Given the description of an element on the screen output the (x, y) to click on. 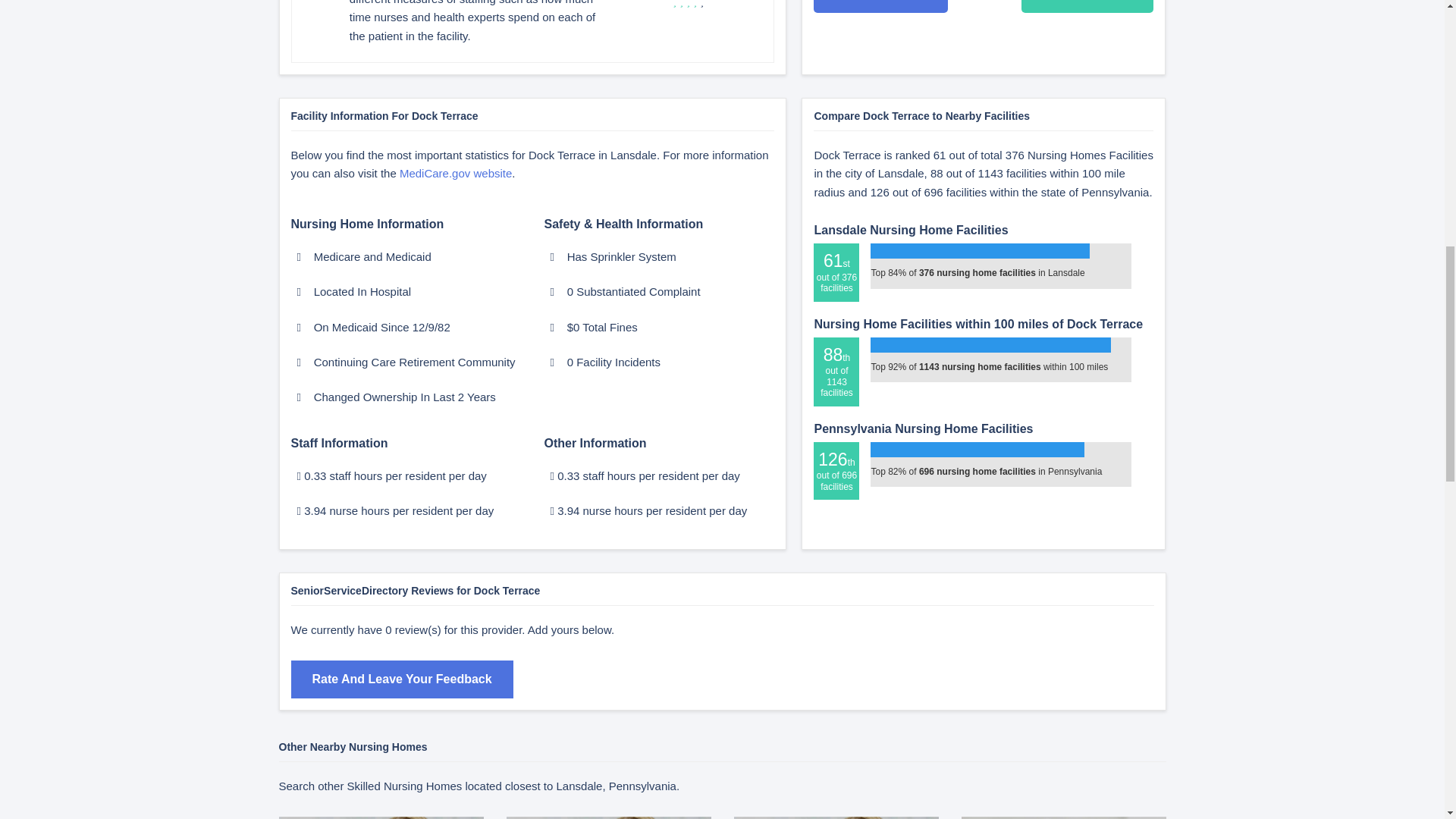
MediCare.gov website (455, 173)
Rate And Leave Your Feedback (402, 679)
REQUEST INFO (880, 6)
CLAIM LISTING (836, 817)
